Given the description of an element on the screen output the (x, y) to click on. 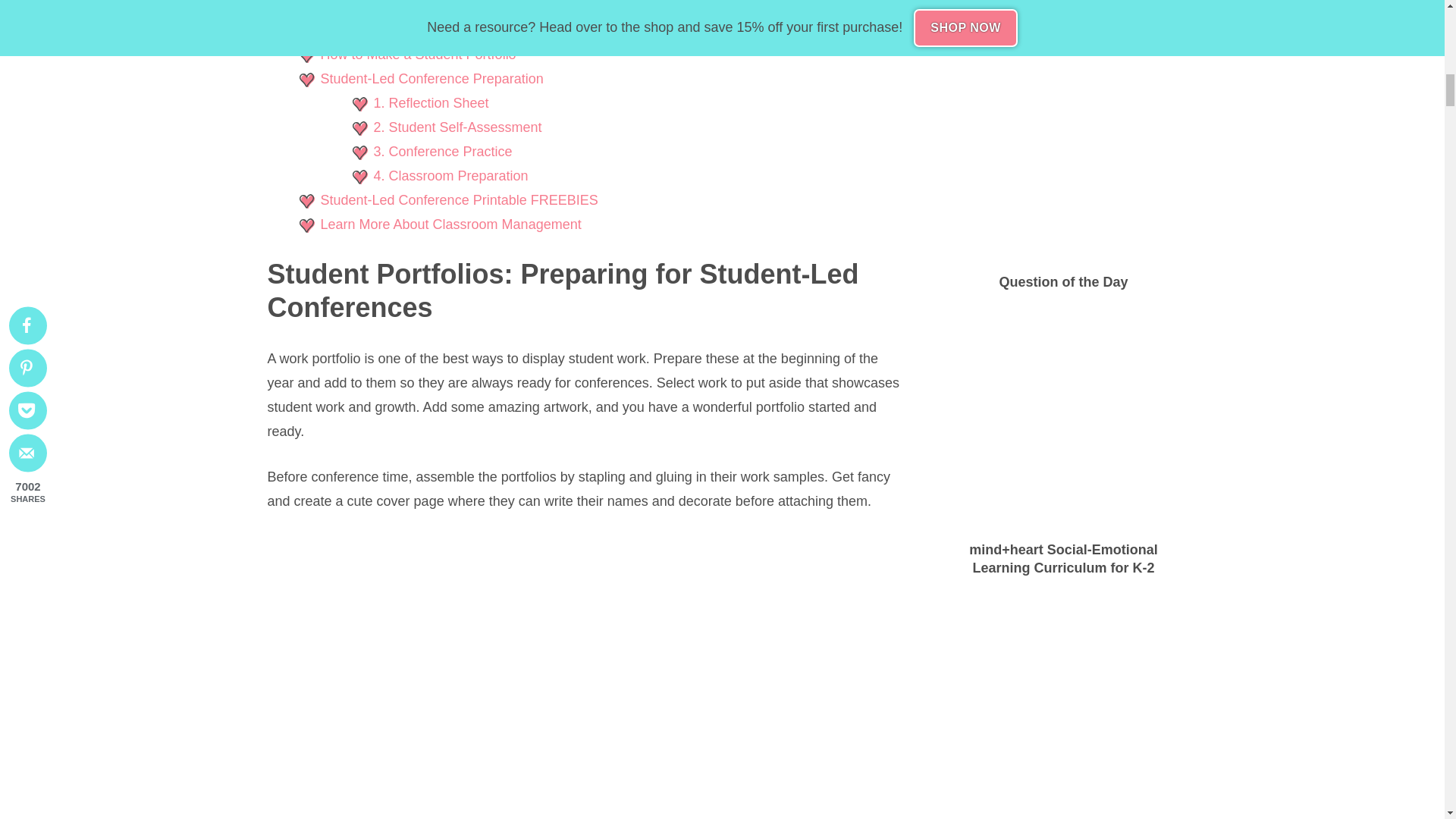
student led conference work portfolios - how to (585, 775)
